Given the description of an element on the screen output the (x, y) to click on. 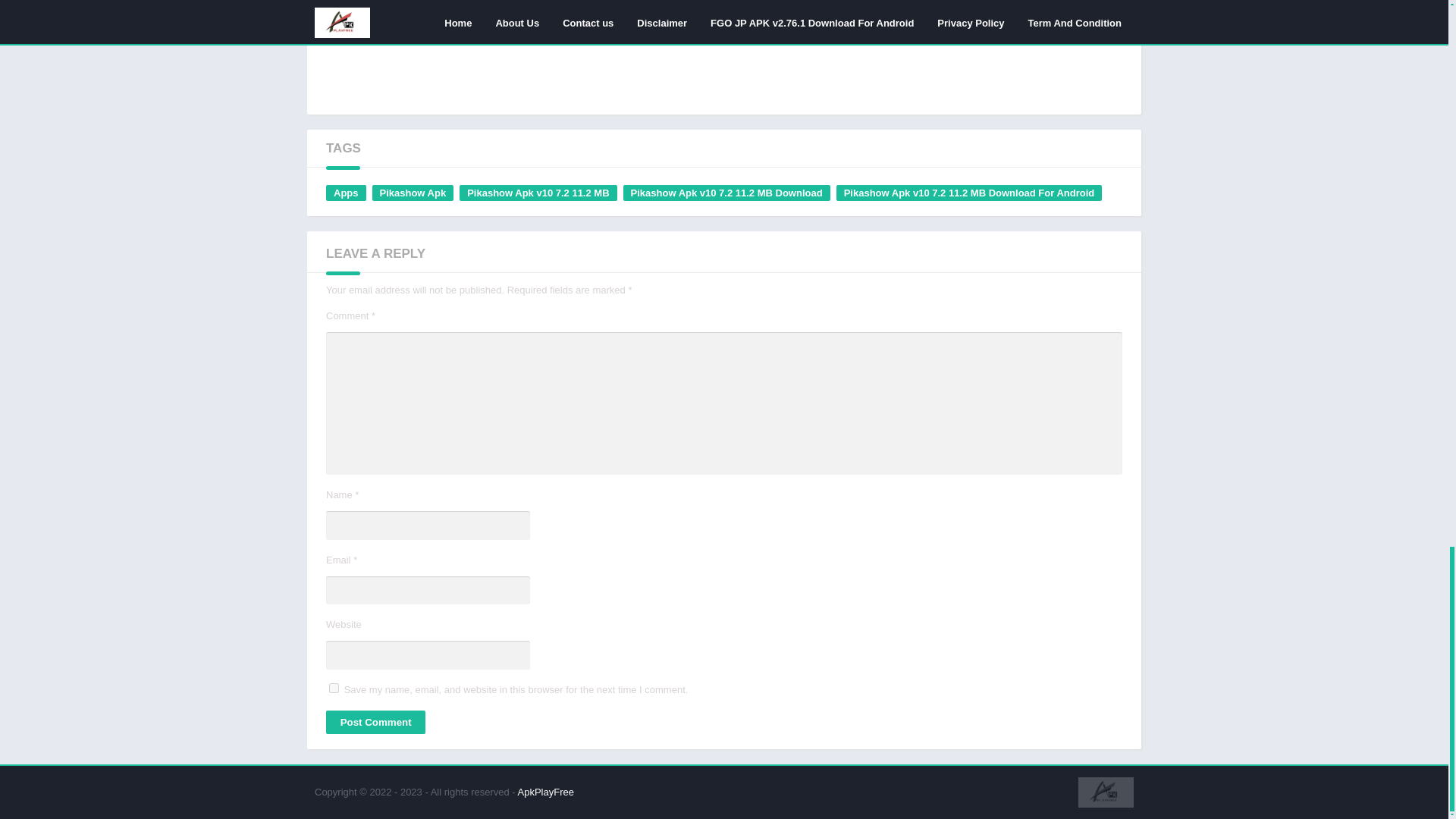
Pikashow Apk (411, 192)
yes (334, 687)
Pikashow Apk v10 7.2 11.2 MB Download (726, 192)
Pikashow Apk v10 7.2 11.2 MB Download For Android (968, 192)
Apps (346, 192)
Post Comment (375, 721)
Pikashow Apk v10 7.2 11.2 MB (537, 192)
